Given the description of an element on the screen output the (x, y) to click on. 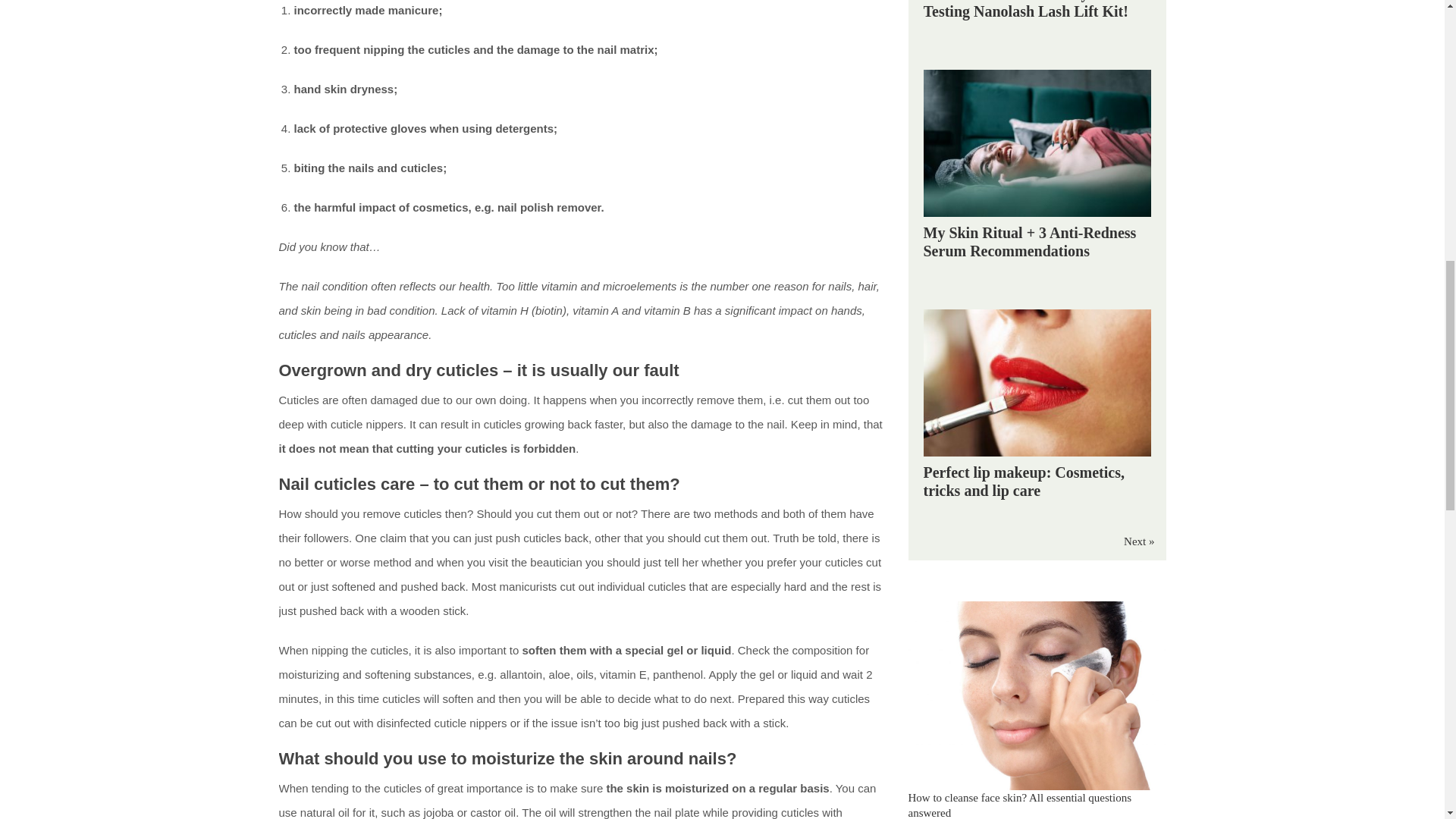
Perfect lip makeup: Cosmetics, tricks and lip care (1024, 481)
Perfect lip makeup: Cosmetics, tricks and lip care (1024, 481)
How to cleanse face skin? All essential questions answered (1020, 805)
